Given the description of an element on the screen output the (x, y) to click on. 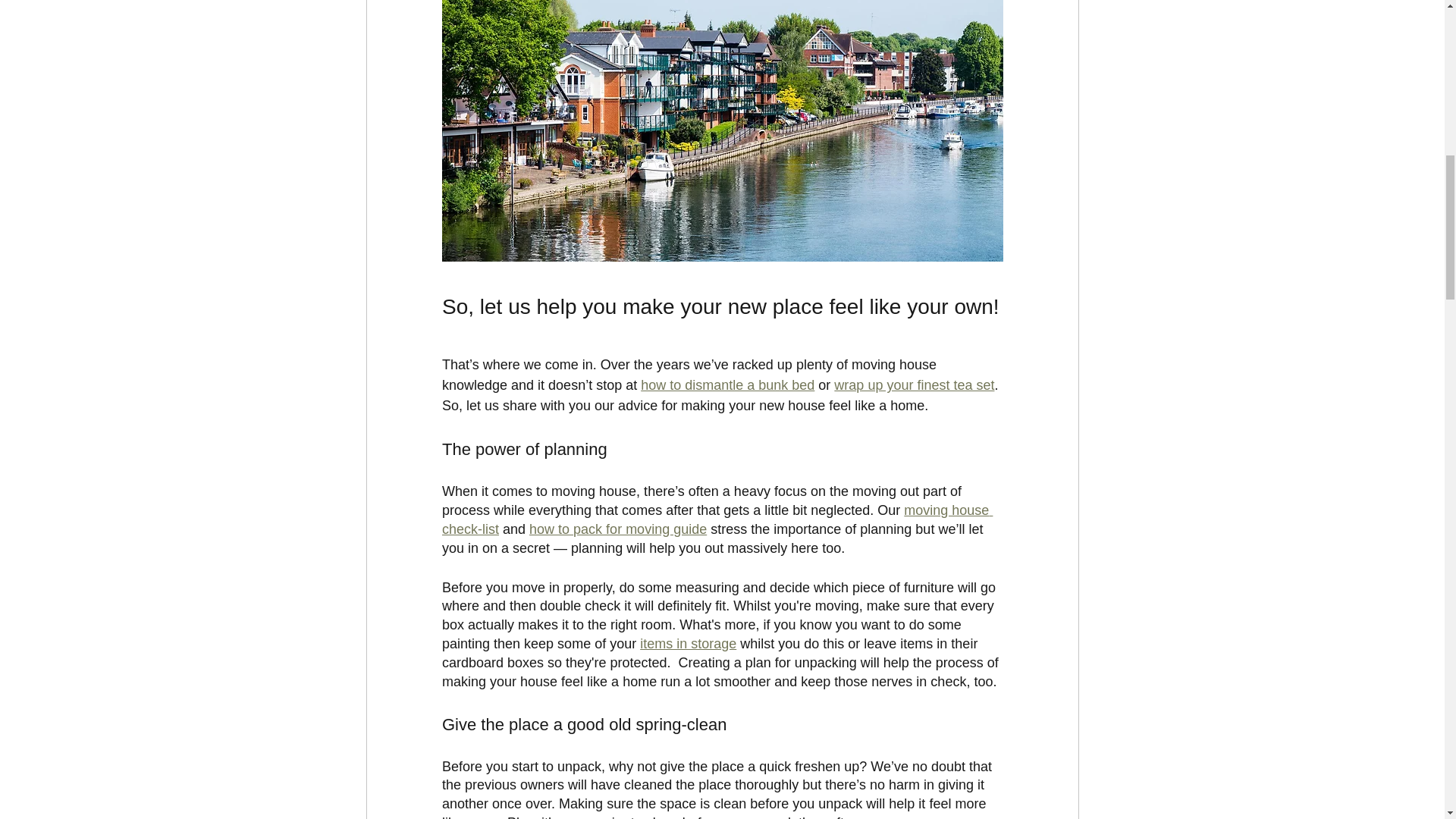
items in storage (688, 643)
moving house check-list (716, 519)
wrap up your finest tea set (914, 385)
how to pack for moving guide (617, 529)
how to dismantle a bunk bed (726, 385)
